Given the description of an element on the screen output the (x, y) to click on. 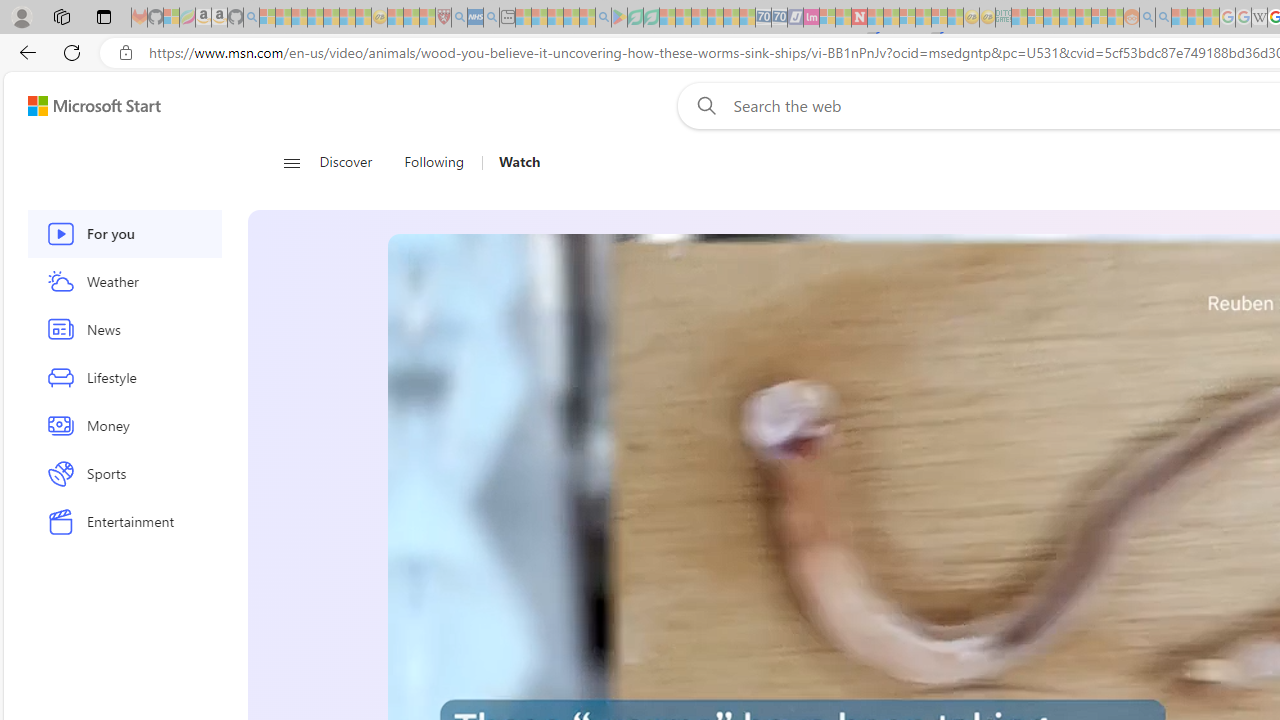
Open navigation menu (291, 162)
Class: button-glyph (290, 162)
14 Common Myths Debunked By Scientific Facts - Sleeping (891, 17)
